Given the description of an element on the screen output the (x, y) to click on. 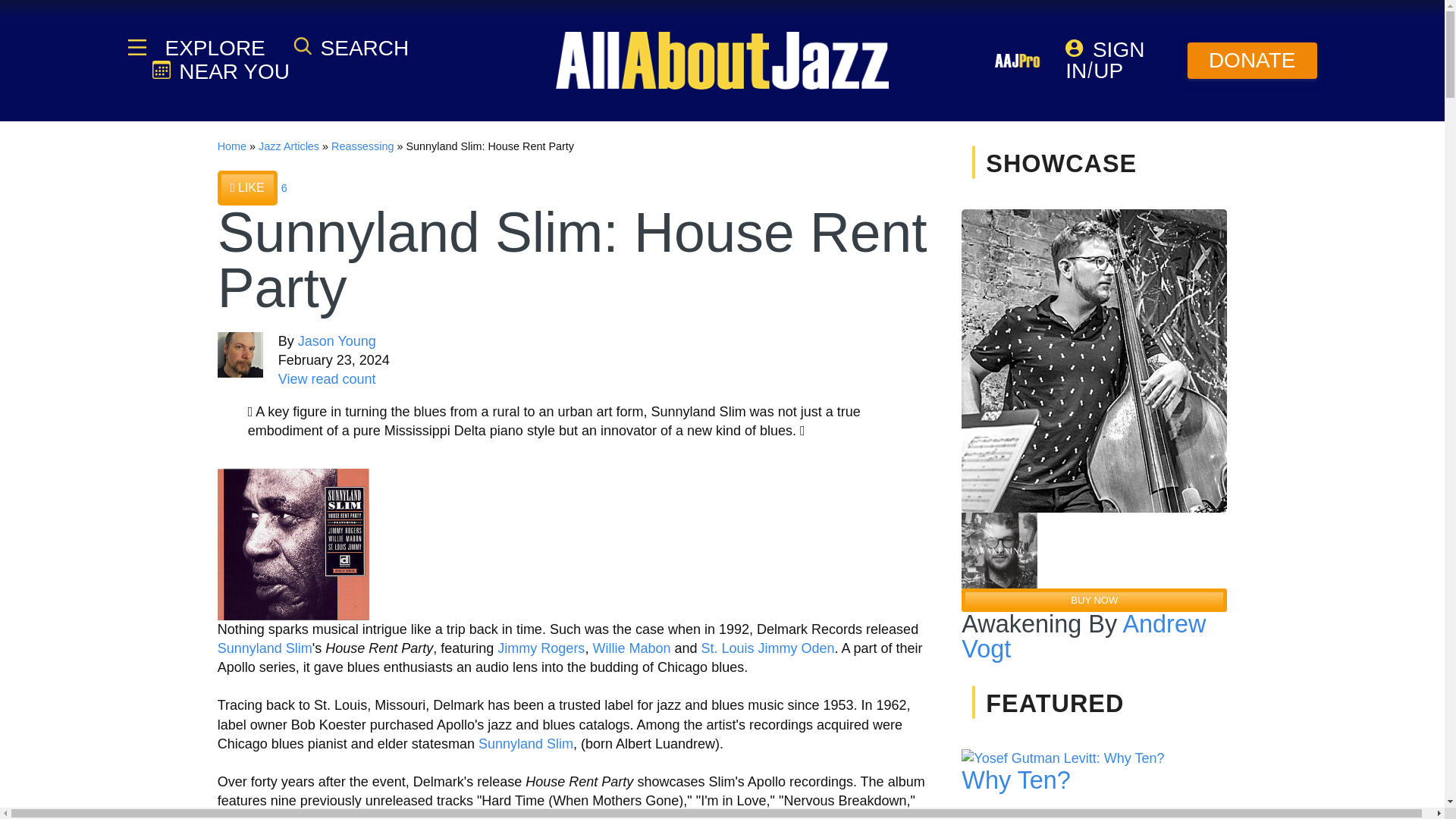
Reassessing (362, 146)
SEARCH (351, 47)
St. Louis Jimmy Oden (767, 648)
Jason Young (336, 340)
View jazz concerts near you (220, 71)
View House Rent Party at All About Jazz (292, 542)
View read count (326, 378)
Click Here to Return to the All About Jazz Home Page (231, 146)
NEAR YOU (220, 71)
Search All About Jazz by category (351, 47)
